Given the description of an element on the screen output the (x, y) to click on. 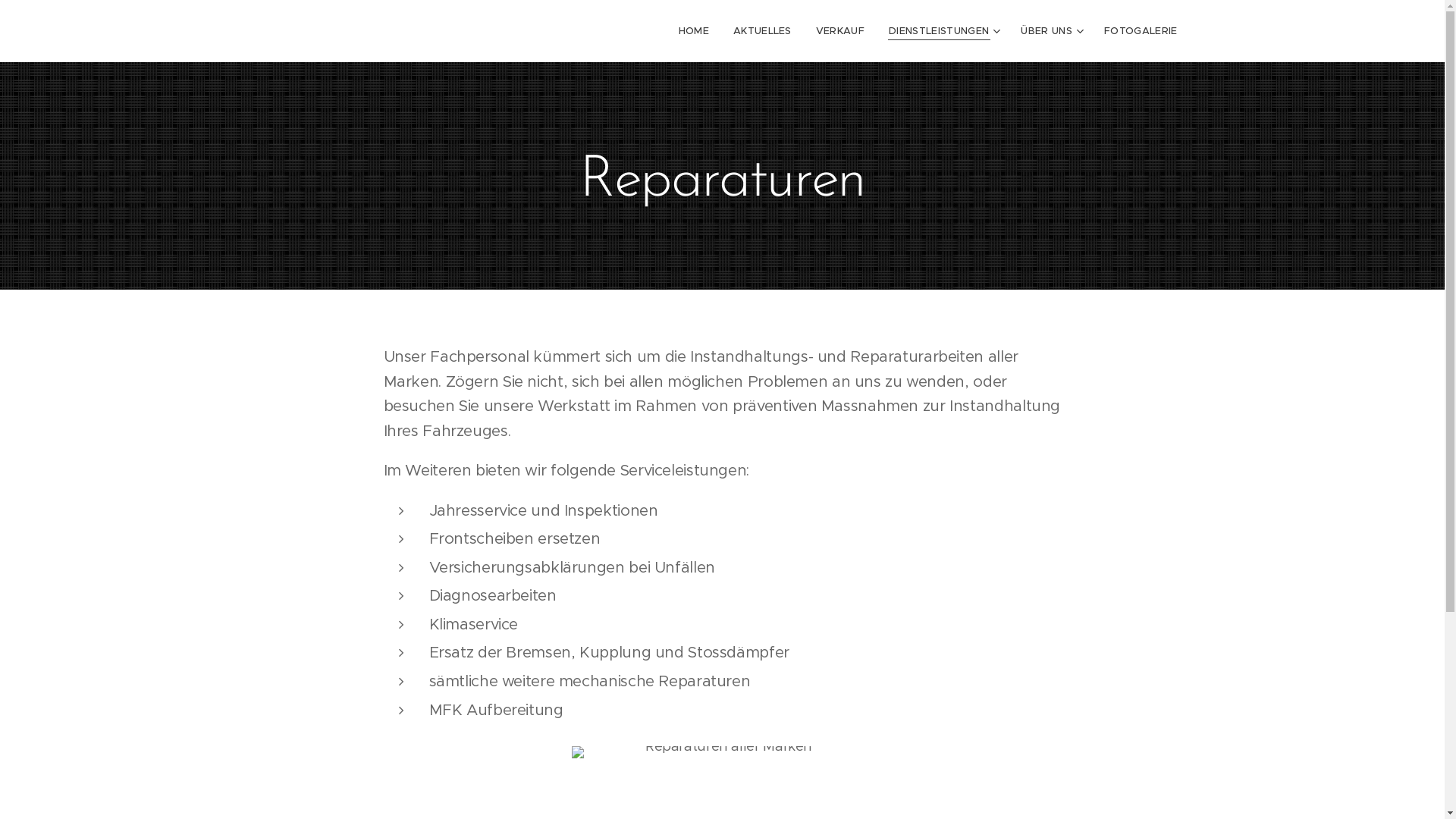
FOTOGALERIE Element type: text (1134, 31)
DIENSTLEISTUNGEN Element type: text (942, 31)
VERKAUF Element type: text (839, 31)
AKTUELLES Element type: text (762, 31)
HOME Element type: text (697, 31)
